Given the description of an element on the screen output the (x, y) to click on. 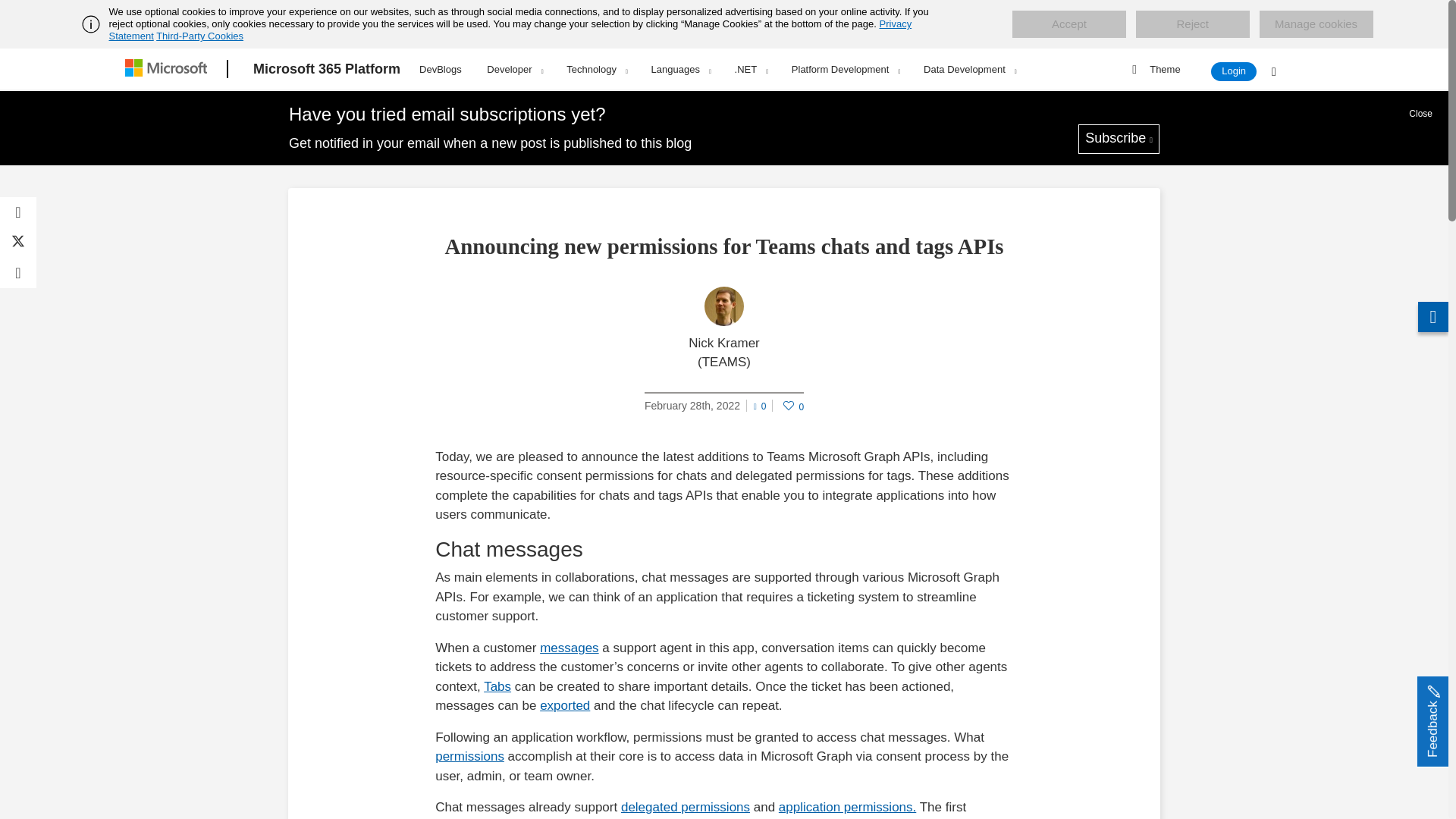
Reject (1192, 23)
DevBlogs (440, 67)
Technology (596, 69)
Accept (1068, 23)
Share on Facebook (18, 212)
Share on LinkedIn (18, 272)
Privacy Statement (510, 29)
Microsoft 365 Platform (326, 69)
Third-Party Cookies (199, 35)
Developer (514, 69)
